Given the description of an element on the screen output the (x, y) to click on. 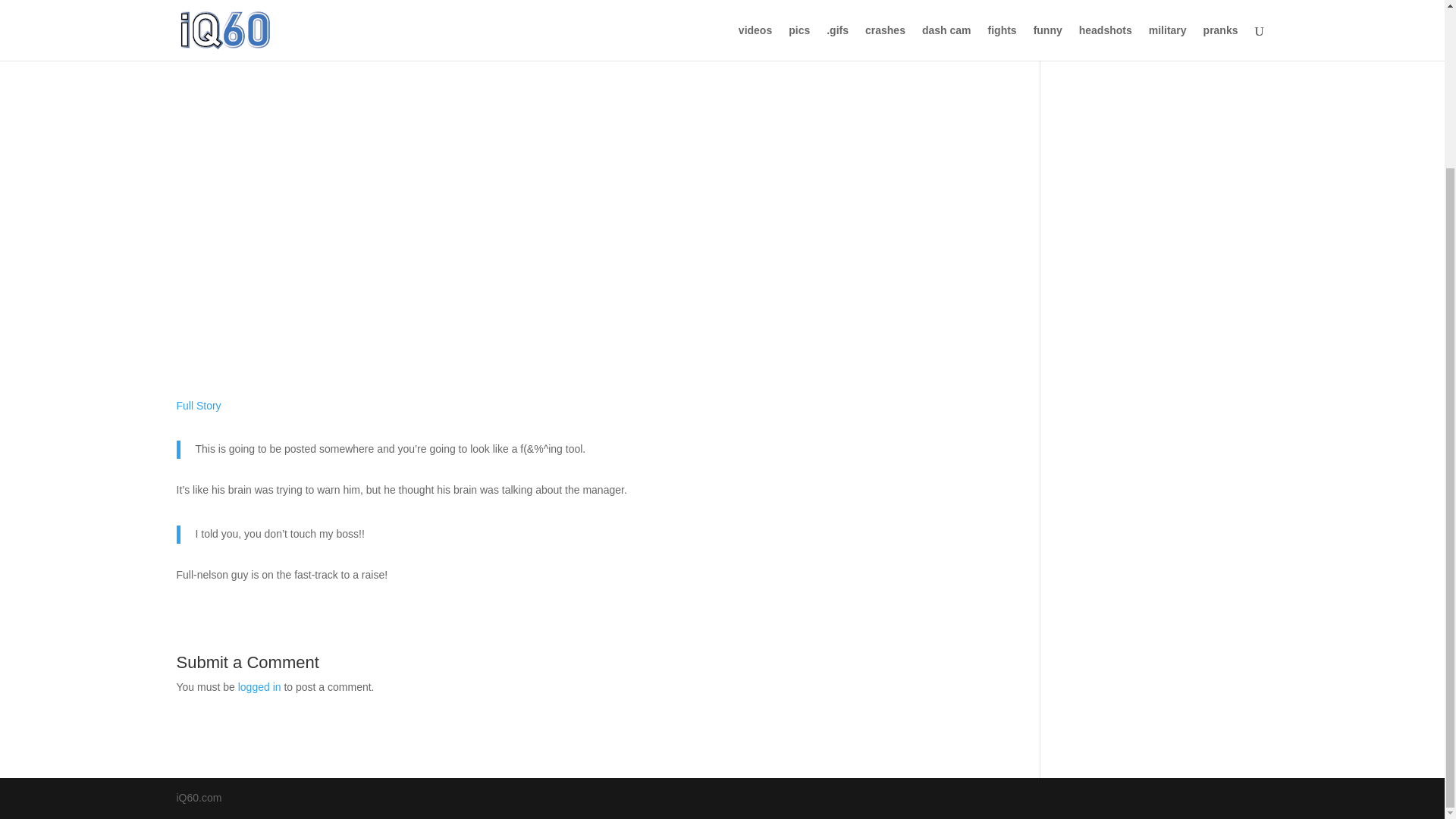
Full Story (198, 405)
logged in (259, 686)
